Given the description of an element on the screen output the (x, y) to click on. 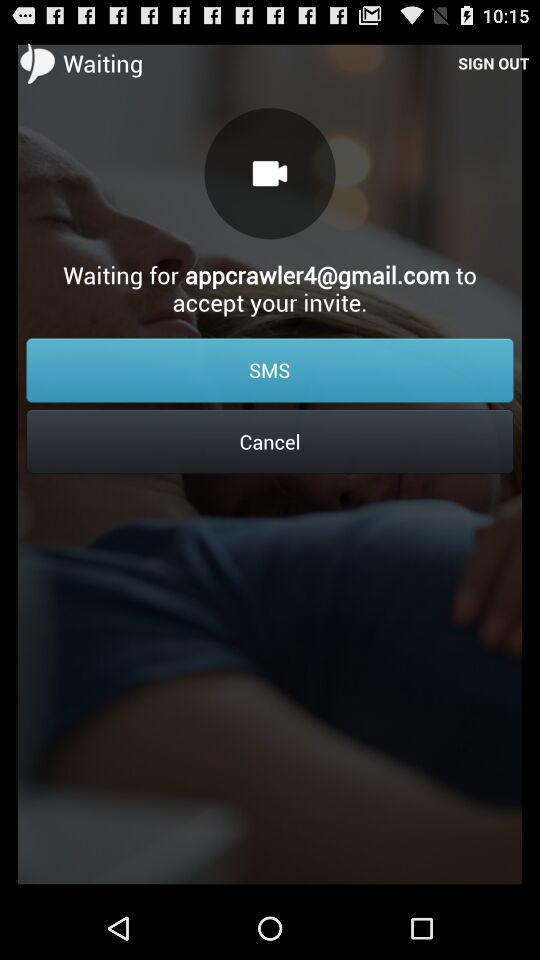
tap cancel icon (269, 441)
